Given the description of an element on the screen output the (x, y) to click on. 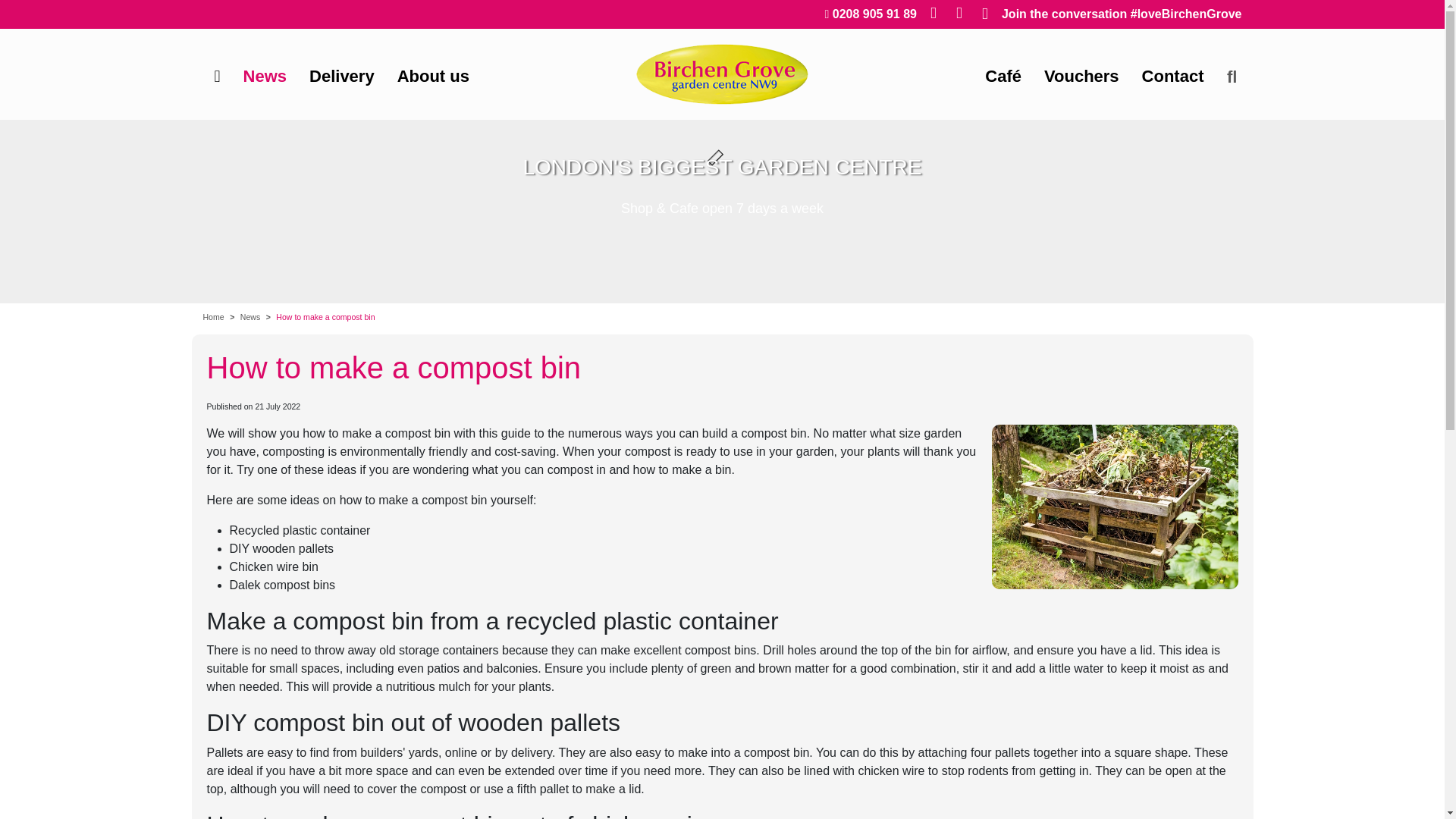
News (250, 316)
About us (432, 75)
Home (217, 75)
Delivery (341, 75)
Vouchers (1081, 75)
About us (432, 75)
Vouchers (1081, 75)
Home (213, 316)
News (264, 75)
News (250, 316)
News (264, 75)
